Given the description of an element on the screen output the (x, y) to click on. 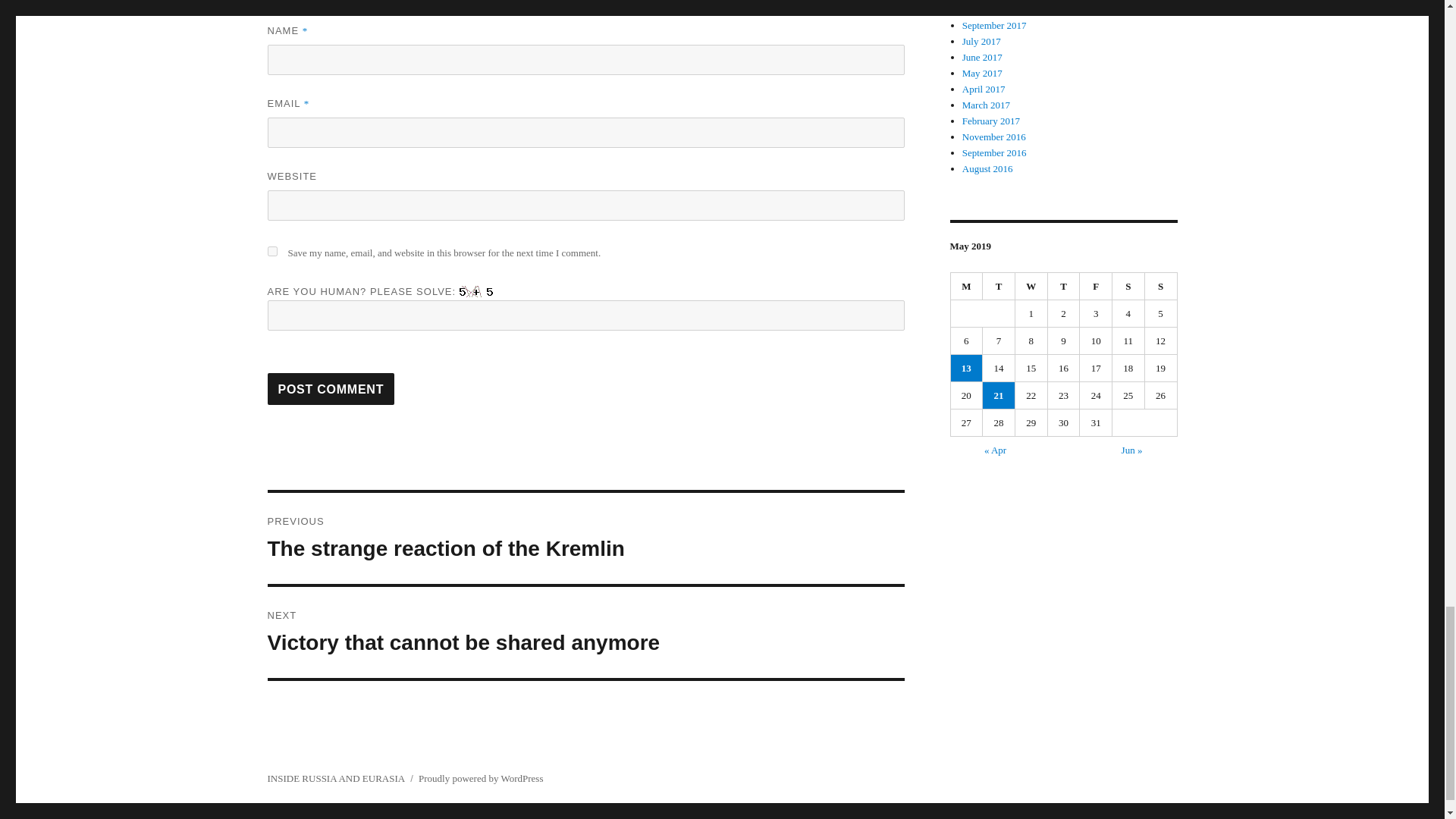
Monday (967, 286)
Thursday (1064, 286)
Tuesday (998, 286)
Post Comment (330, 388)
Wednesday (1031, 286)
Friday (1096, 286)
Post Comment (330, 388)
yes (271, 251)
Saturday (1128, 286)
Sunday (585, 632)
